Given the description of an element on the screen output the (x, y) to click on. 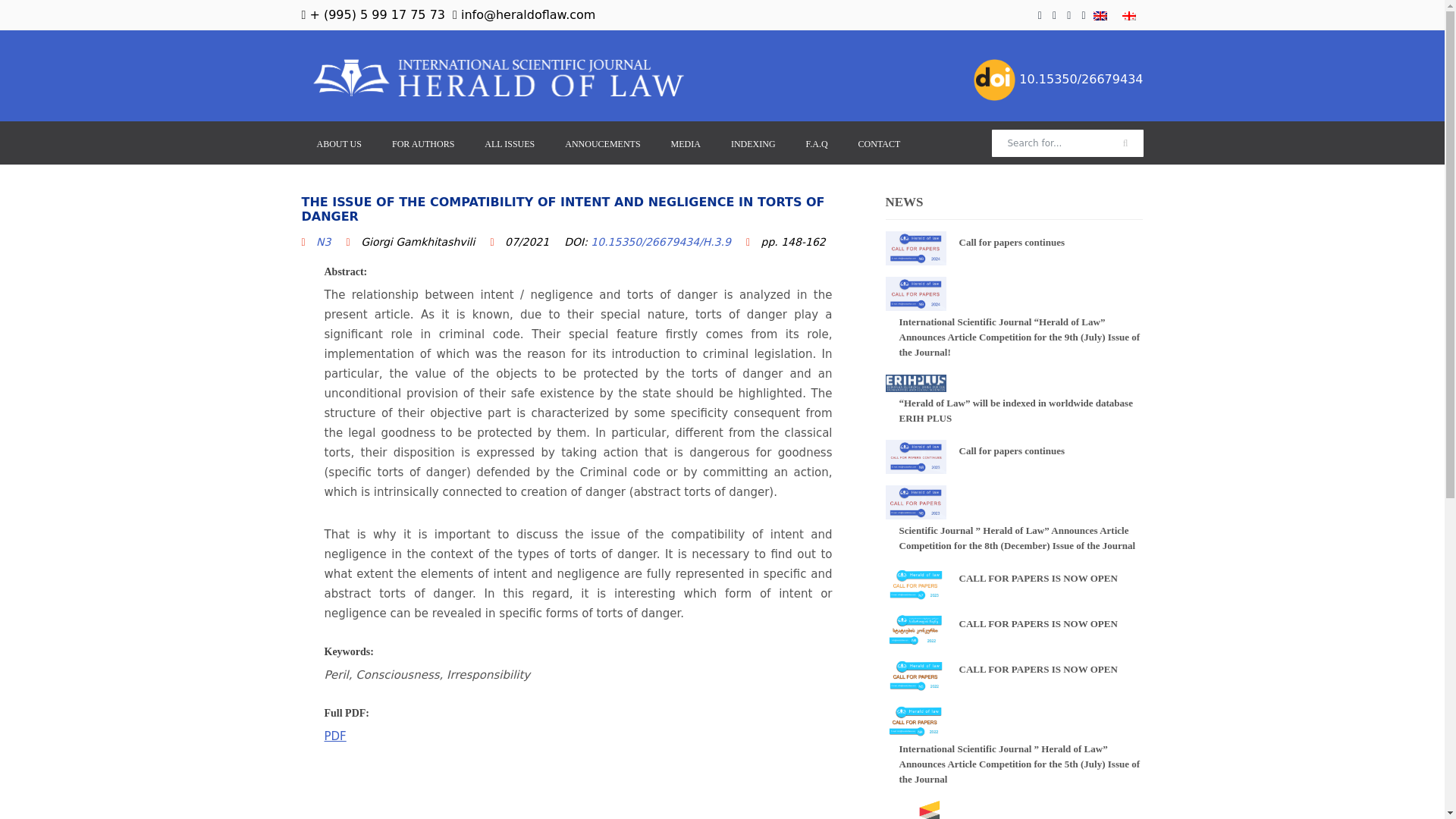
ANNOUCEMENTS (602, 142)
MEDIA (686, 142)
FOR AUTHORS (422, 142)
ABOUT US (339, 142)
N3 (322, 242)
CONTACT (879, 142)
F.A.Q (816, 142)
INDEXING (753, 142)
ALL ISSUES (509, 142)
